Given the description of an element on the screen output the (x, y) to click on. 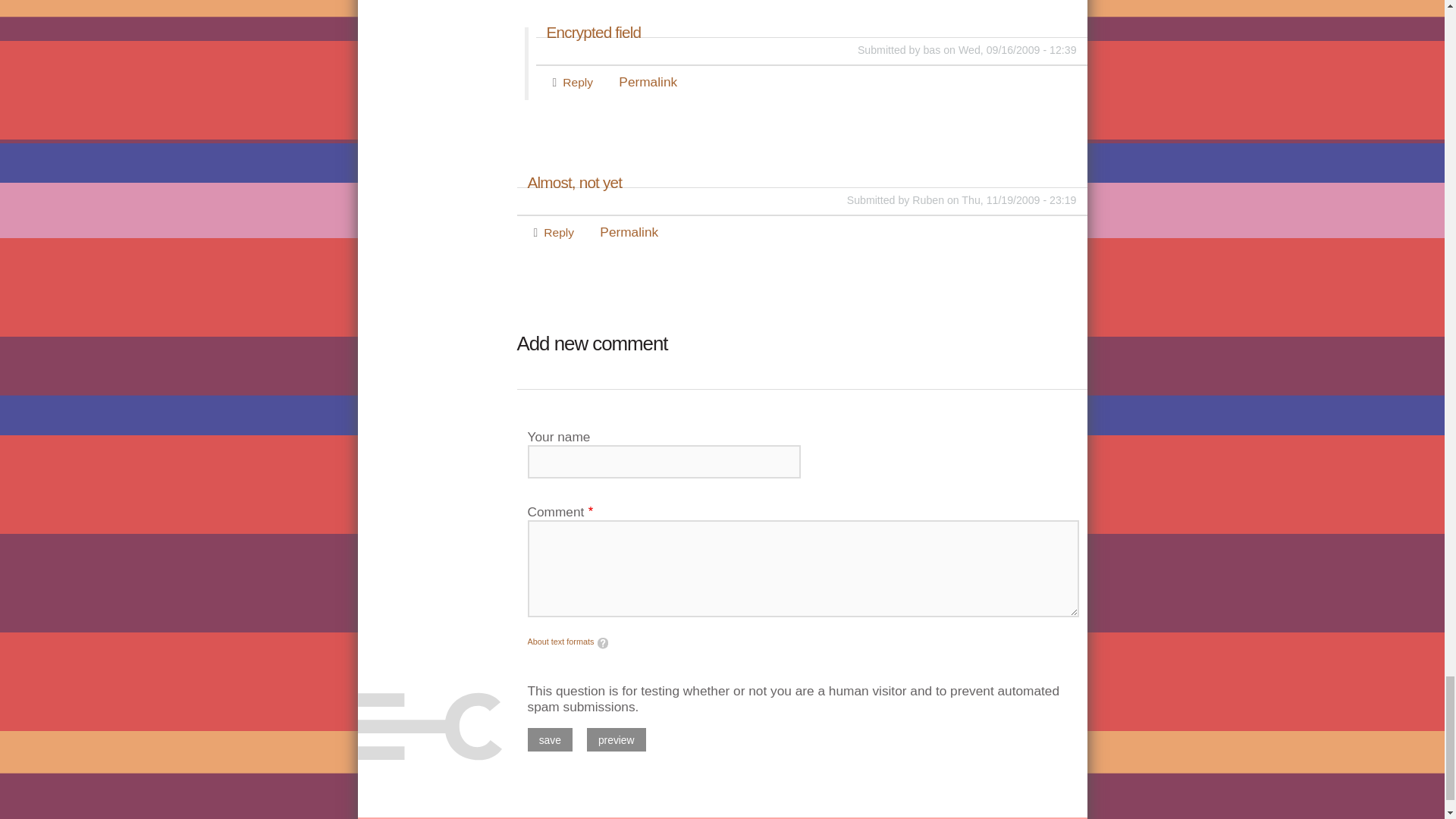
Preview (616, 739)
Save (550, 739)
